Given the description of an element on the screen output the (x, y) to click on. 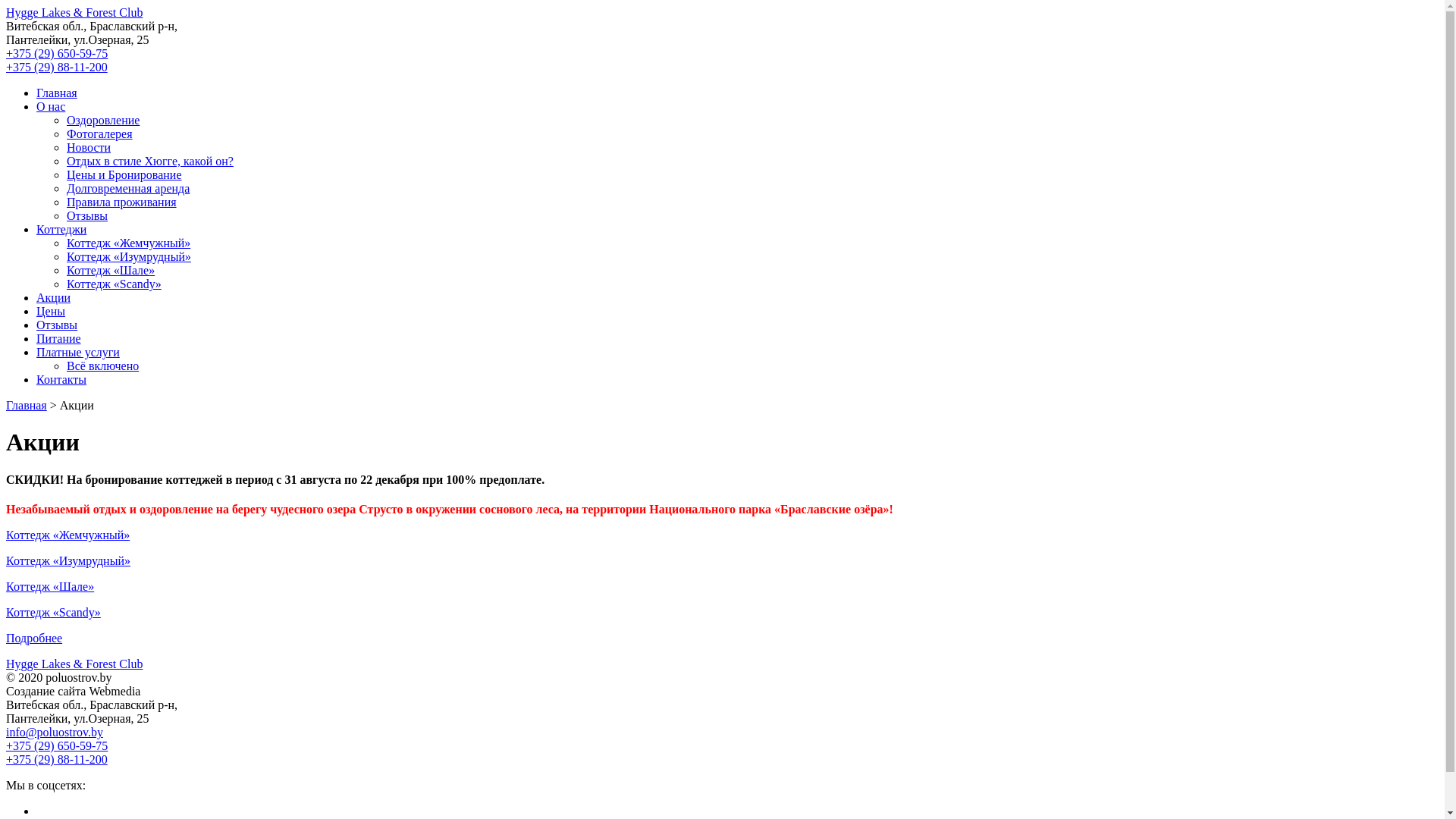
+375 (29) 88-11-200 Element type: text (56, 759)
+375 (29) 88-11-200 Element type: text (56, 66)
+375 (29) 650-59-75 Element type: text (56, 53)
Hygge Lakes & Forest Club Element type: text (74, 663)
+375 (29) 650-59-75 Element type: text (56, 745)
Hygge Lakes & Forest Club Element type: text (74, 12)
info@poluostrov.by Element type: text (54, 731)
